Given the description of an element on the screen output the (x, y) to click on. 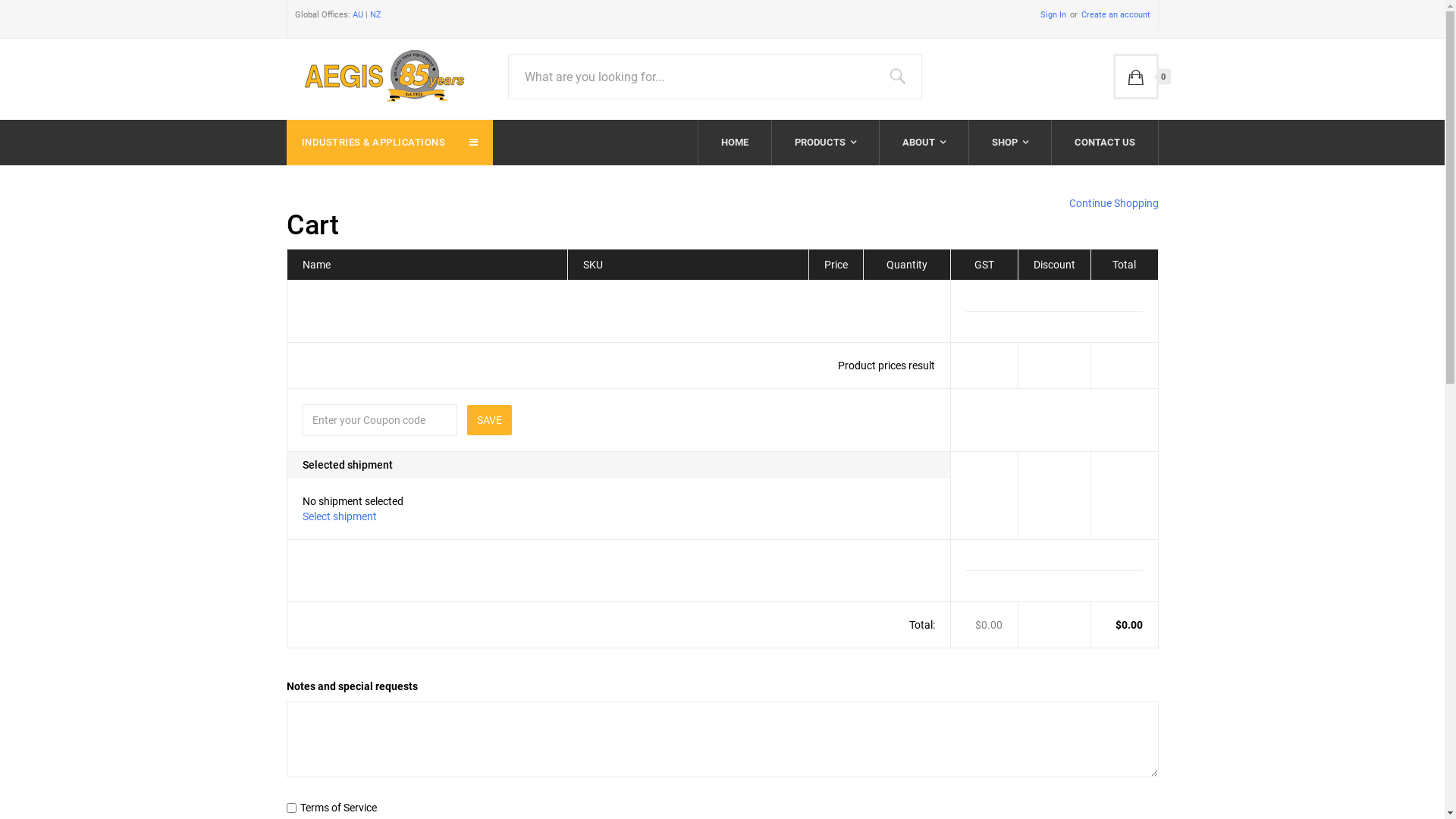
Save Element type: hover (489, 419)
ABOUT Element type: text (923, 142)
CONTACT US Element type: text (1104, 142)
SHOP Element type: text (1010, 142)
Select shipment Element type: text (338, 516)
AU Element type: text (356, 14)
Create an account Element type: text (1108, 14)
Aegis Quality Test Equipment  Element type: hover (381, 72)
Sign In Element type: text (1053, 14)
PRODUCTS Element type: text (824, 142)
0 Element type: text (1135, 76)
HOME Element type: text (733, 142)
Continue Shopping Element type: text (1113, 203)
Save Element type: text (489, 419)
NZ Element type: text (375, 14)
